Given the description of an element on the screen output the (x, y) to click on. 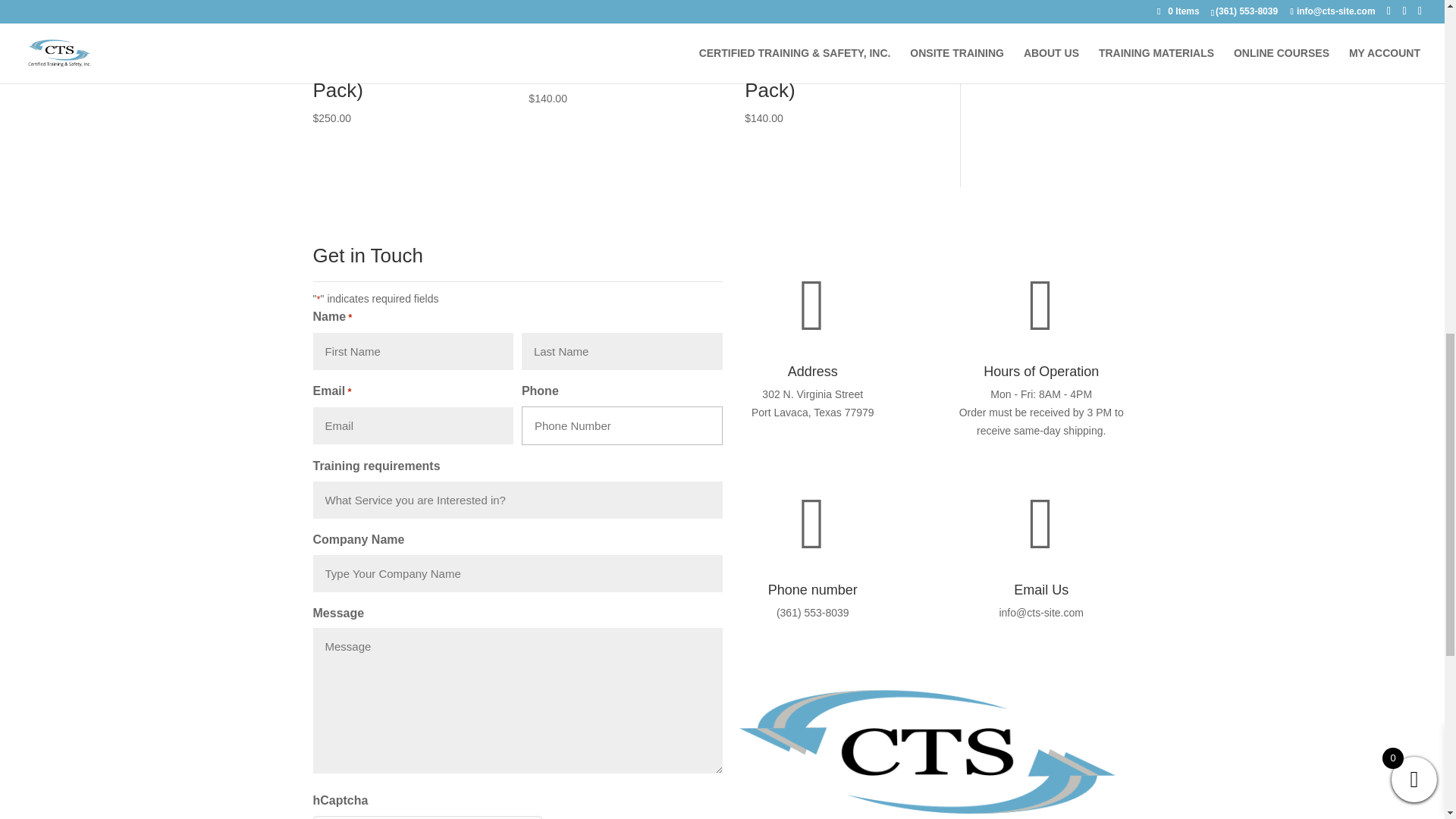
CTSLogo2021 (926, 744)
